Given the description of an element on the screen output the (x, y) to click on. 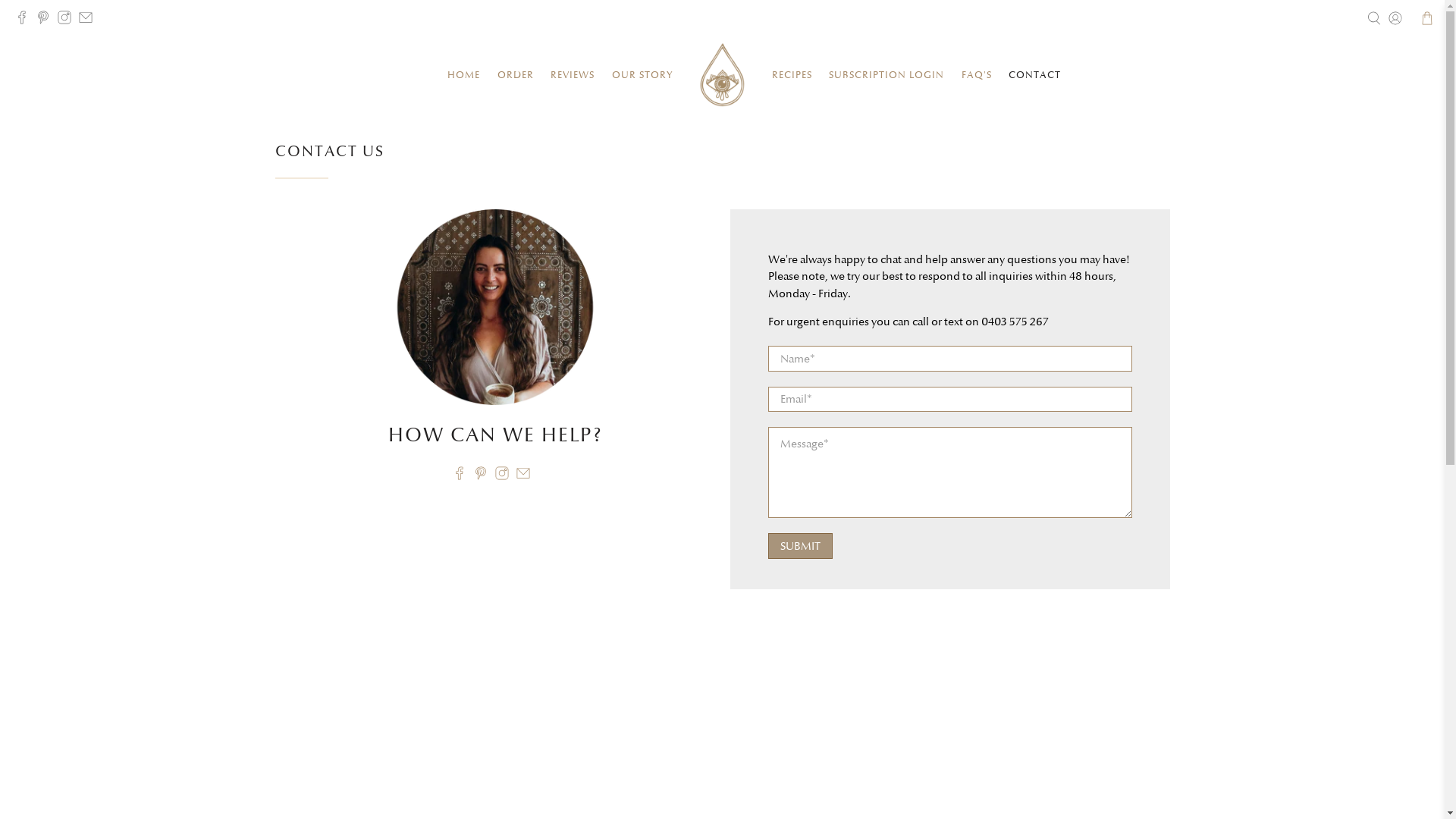
OUR STORY Element type: text (641, 75)
SUBMIT Element type: text (799, 545)
RECIPES Element type: text (791, 75)
REVIEWS Element type: text (572, 75)
ORDER Element type: text (515, 75)
CONTACT Element type: text (1035, 75)
SUBSCRIPTION LOGIN Element type: text (886, 75)
FAQ'S Element type: text (976, 75)
HOME Element type: text (464, 75)
